Given the description of an element on the screen output the (x, y) to click on. 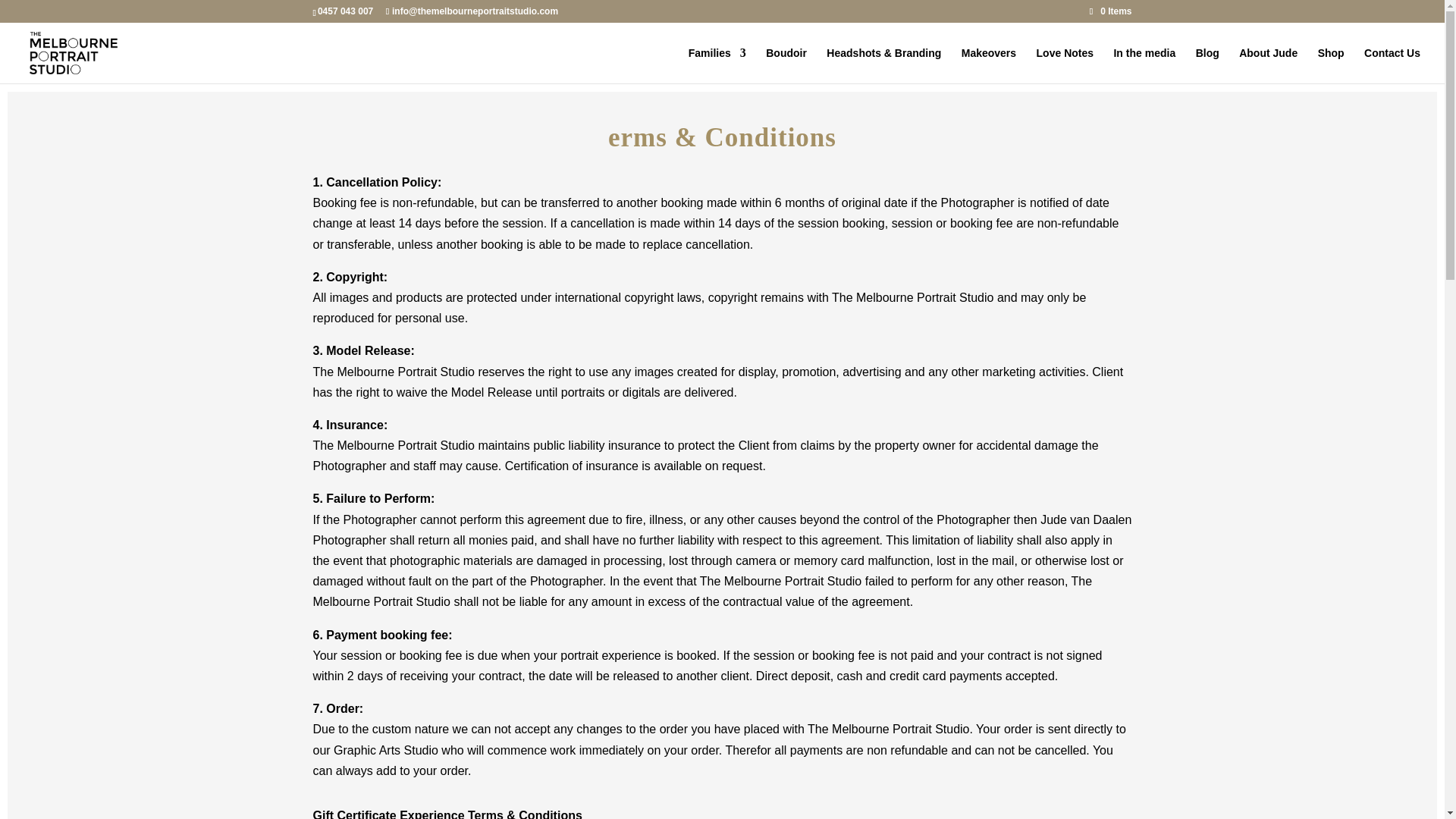
Makeovers (988, 65)
About Jude (1268, 65)
Love Notes (1064, 65)
Contact Us (1392, 65)
Boudoir (785, 65)
0457 043 007 (344, 10)
Families (716, 65)
0 Items (1110, 10)
In the media (1143, 65)
